Given the description of an element on the screen output the (x, y) to click on. 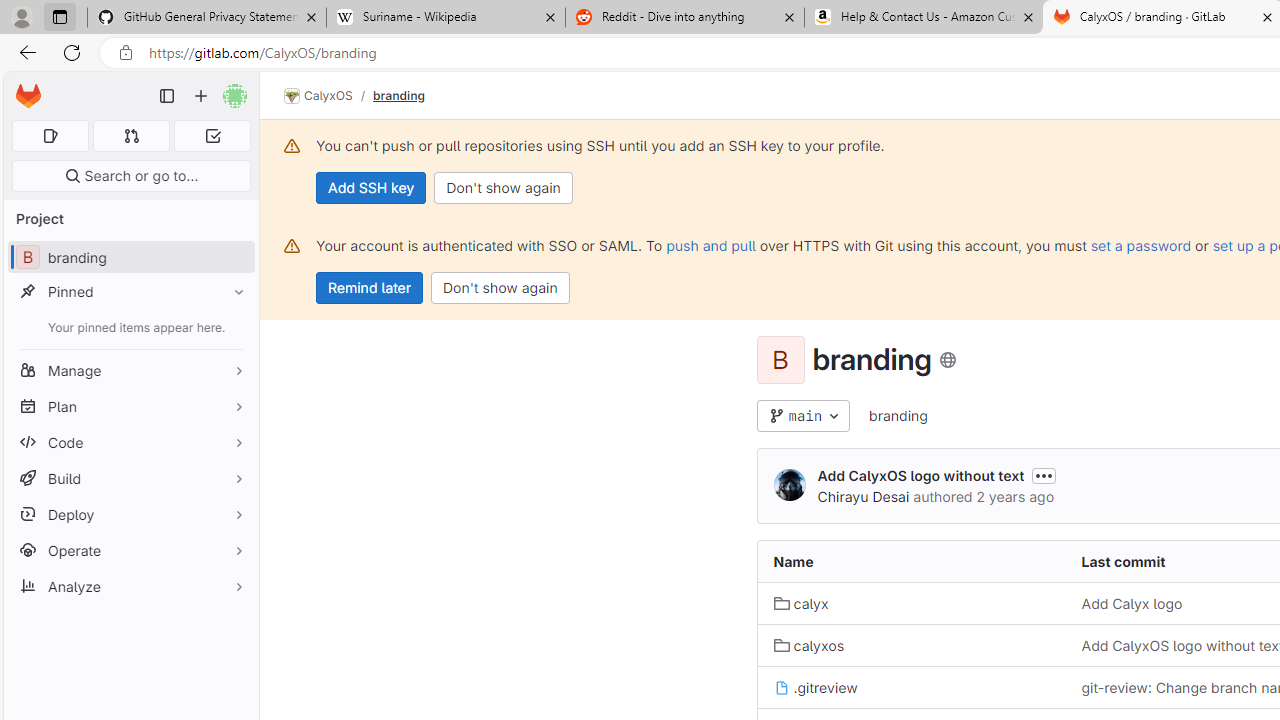
Code (130, 442)
Class: s16 icon (947, 359)
Bbranding (130, 257)
Build (130, 478)
Chirayu Desai's avatar (789, 485)
.gitreview (911, 687)
push and pull (710, 245)
Operate (130, 550)
Class: s16 gl-alert-icon gl-alert-icon-no-title (291, 246)
Create new... (201, 96)
main (803, 416)
calyxos (808, 645)
Name (911, 561)
